Given the description of an element on the screen output the (x, y) to click on. 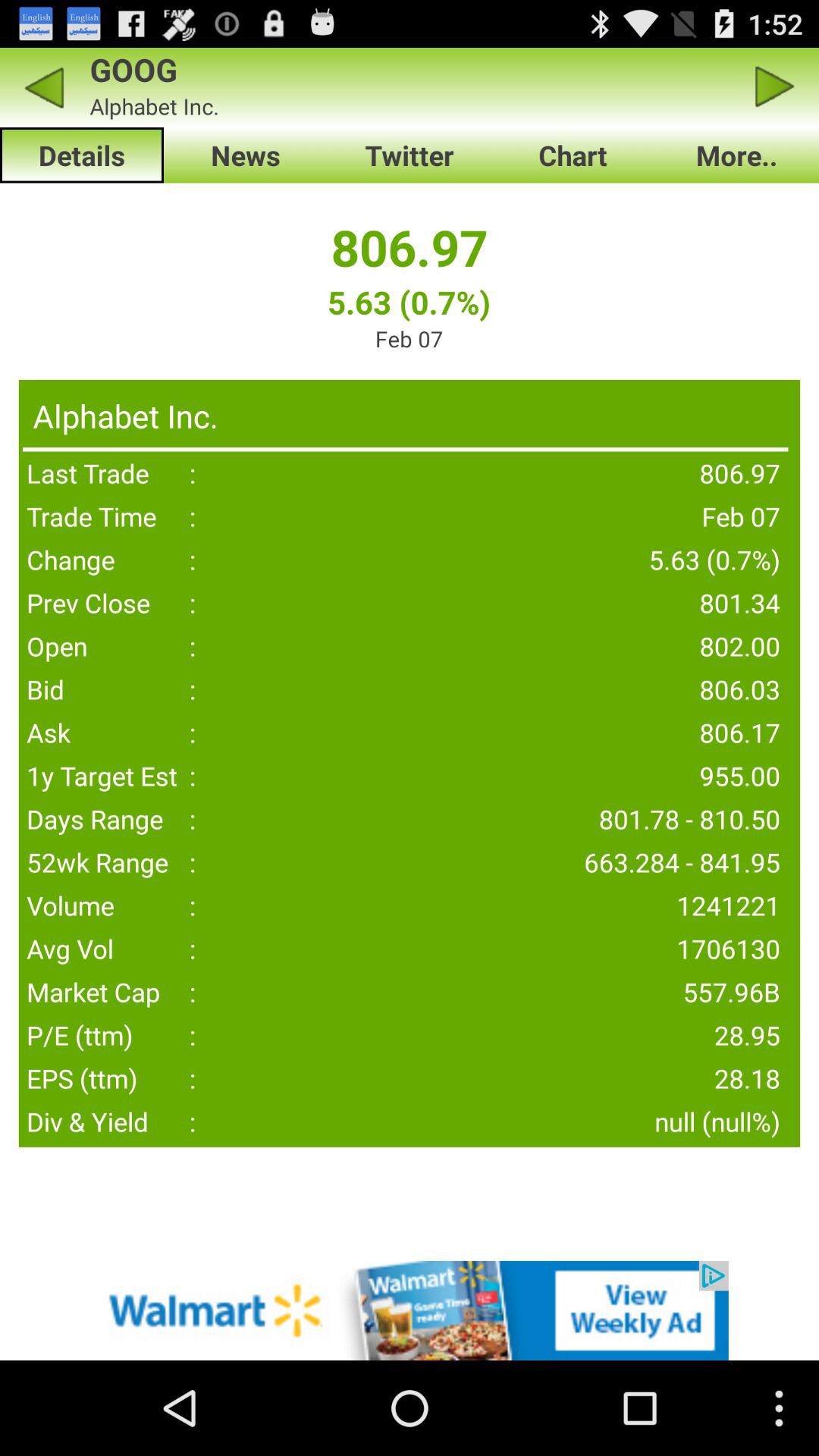
advertisement page (409, 1310)
